Given the description of an element on the screen output the (x, y) to click on. 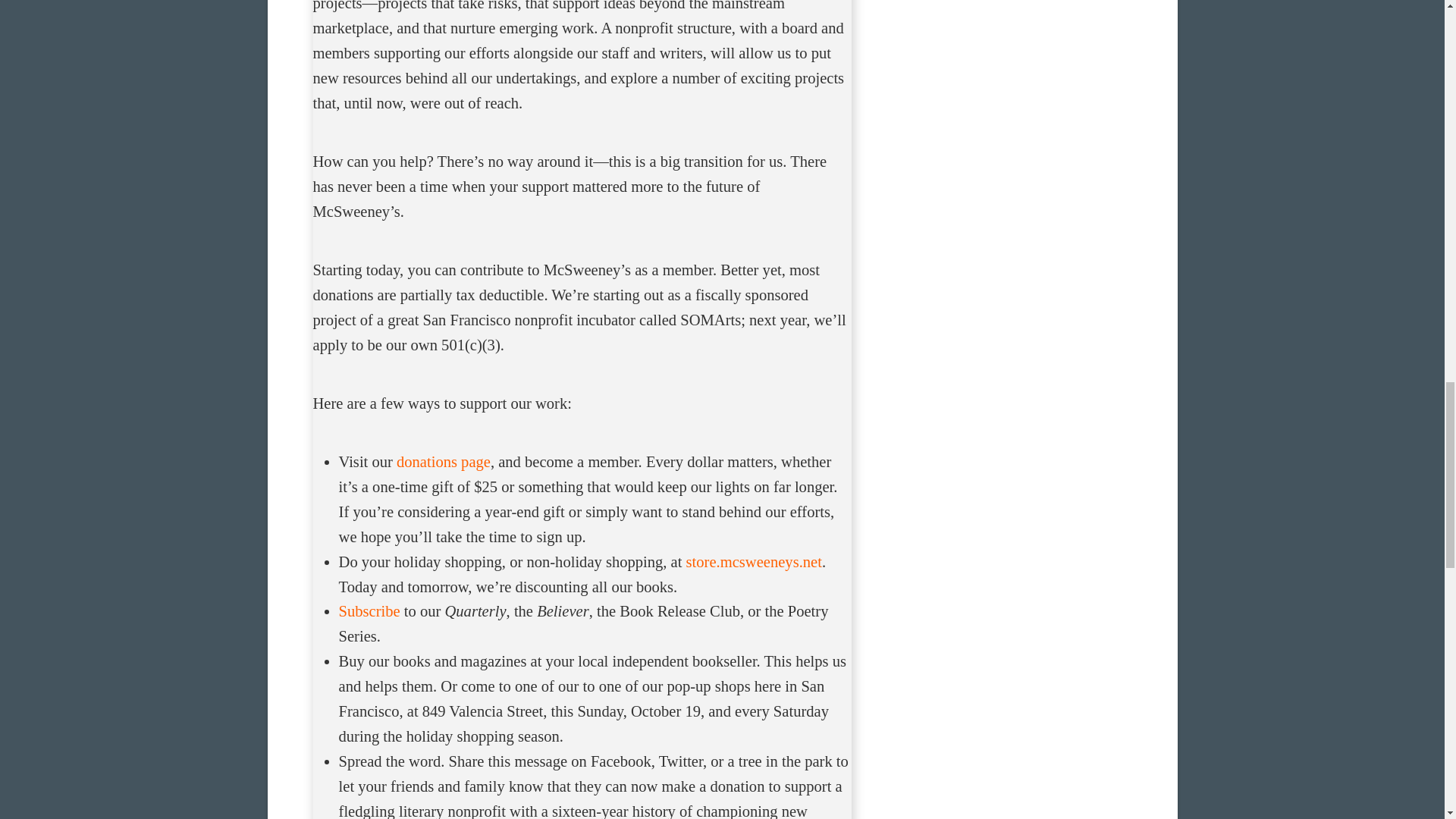
Subscribe (369, 610)
store.mcsweeneys.net (753, 561)
donations page (443, 461)
